Given the description of an element on the screen output the (x, y) to click on. 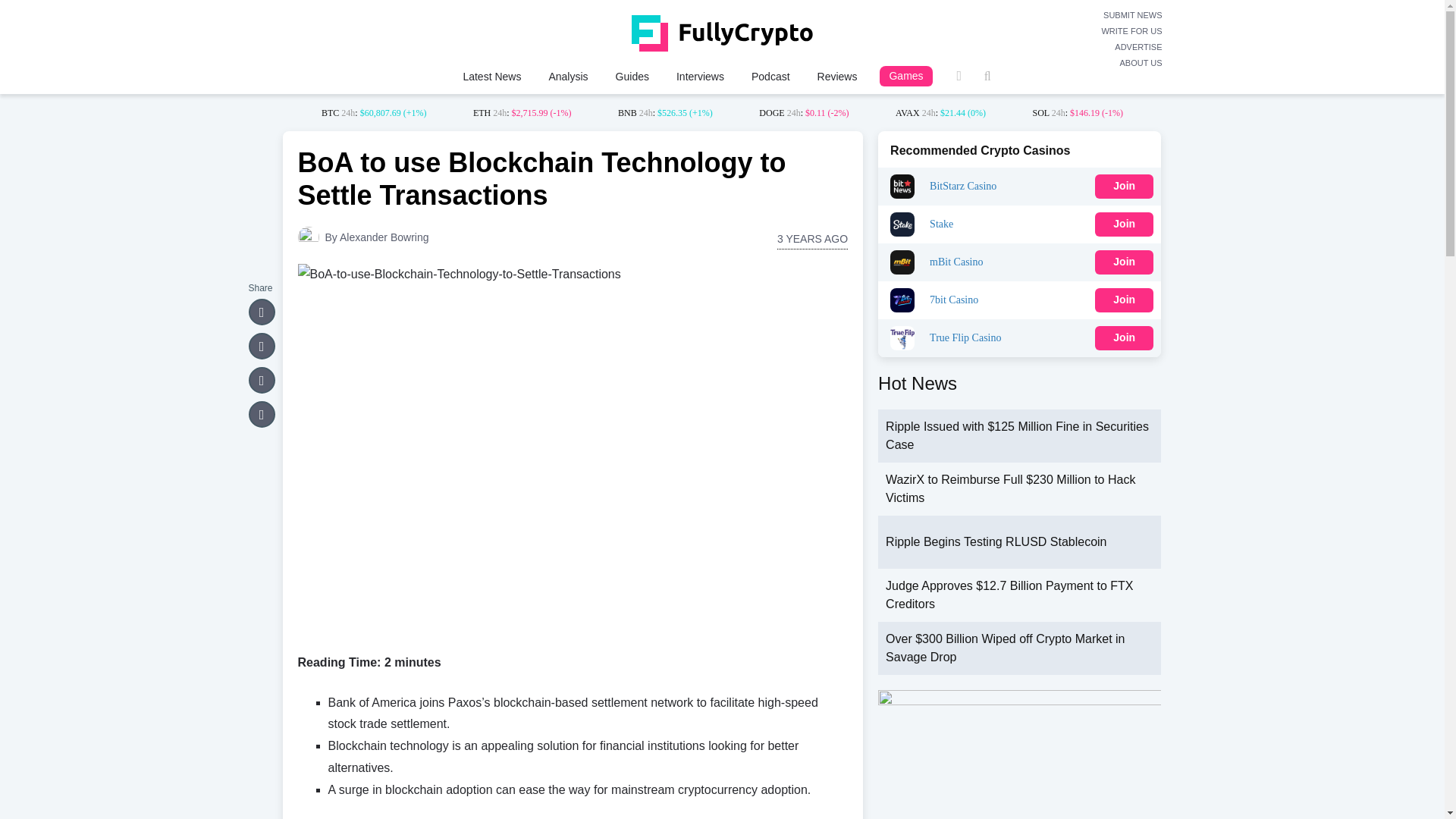
Games (905, 76)
Latest News (491, 76)
Analysis (567, 76)
ABOUT US (1130, 63)
Podcast (770, 76)
Reviews (836, 76)
WRITE FOR US (1130, 31)
Guides (632, 76)
SUBMIT NEWS (1130, 15)
Posts by Alexander Bowring (384, 236)
